Given the description of an element on the screen output the (x, y) to click on. 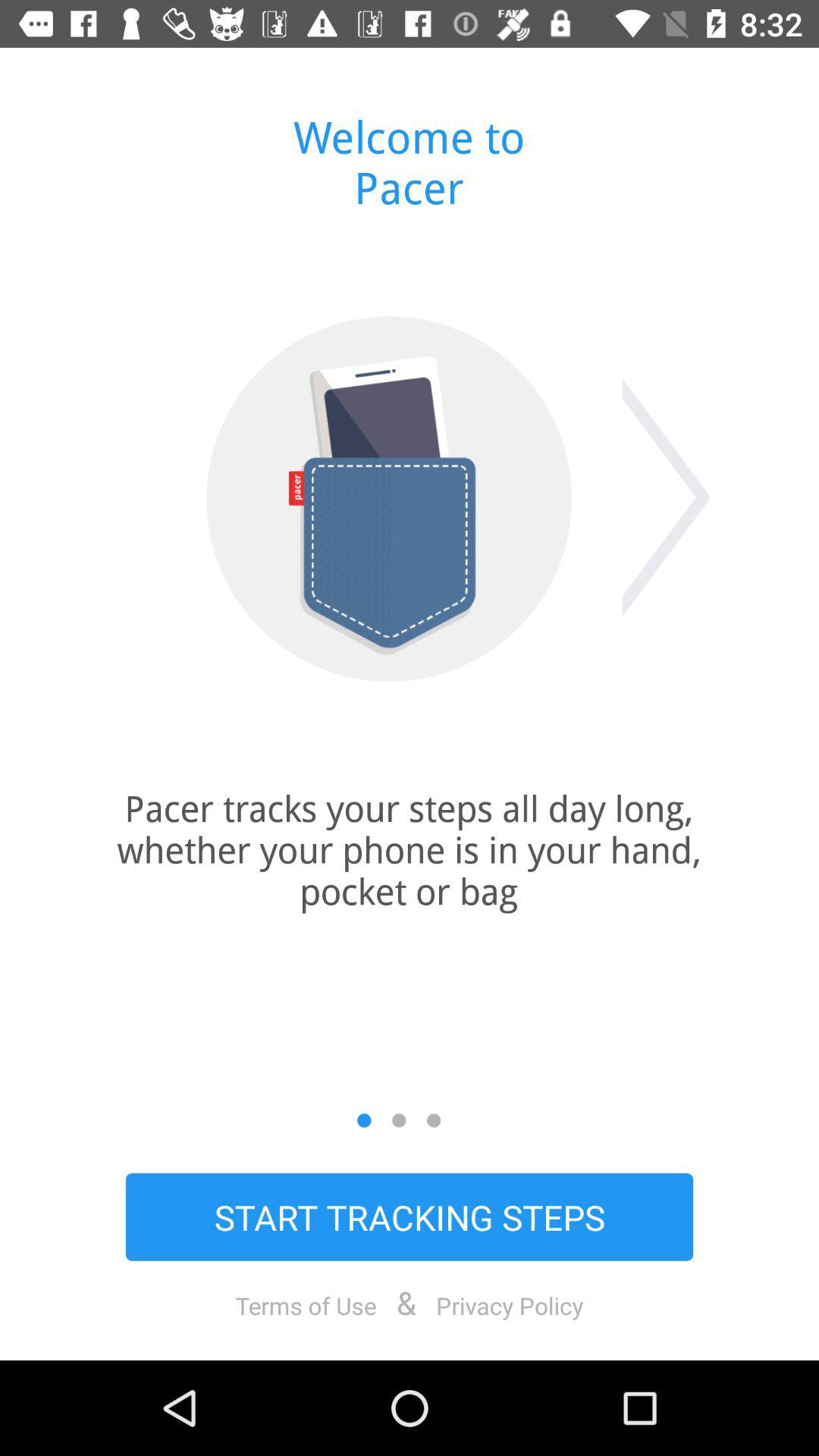
click the icon below the start tracking steps icon (509, 1305)
